Given the description of an element on the screen output the (x, y) to click on. 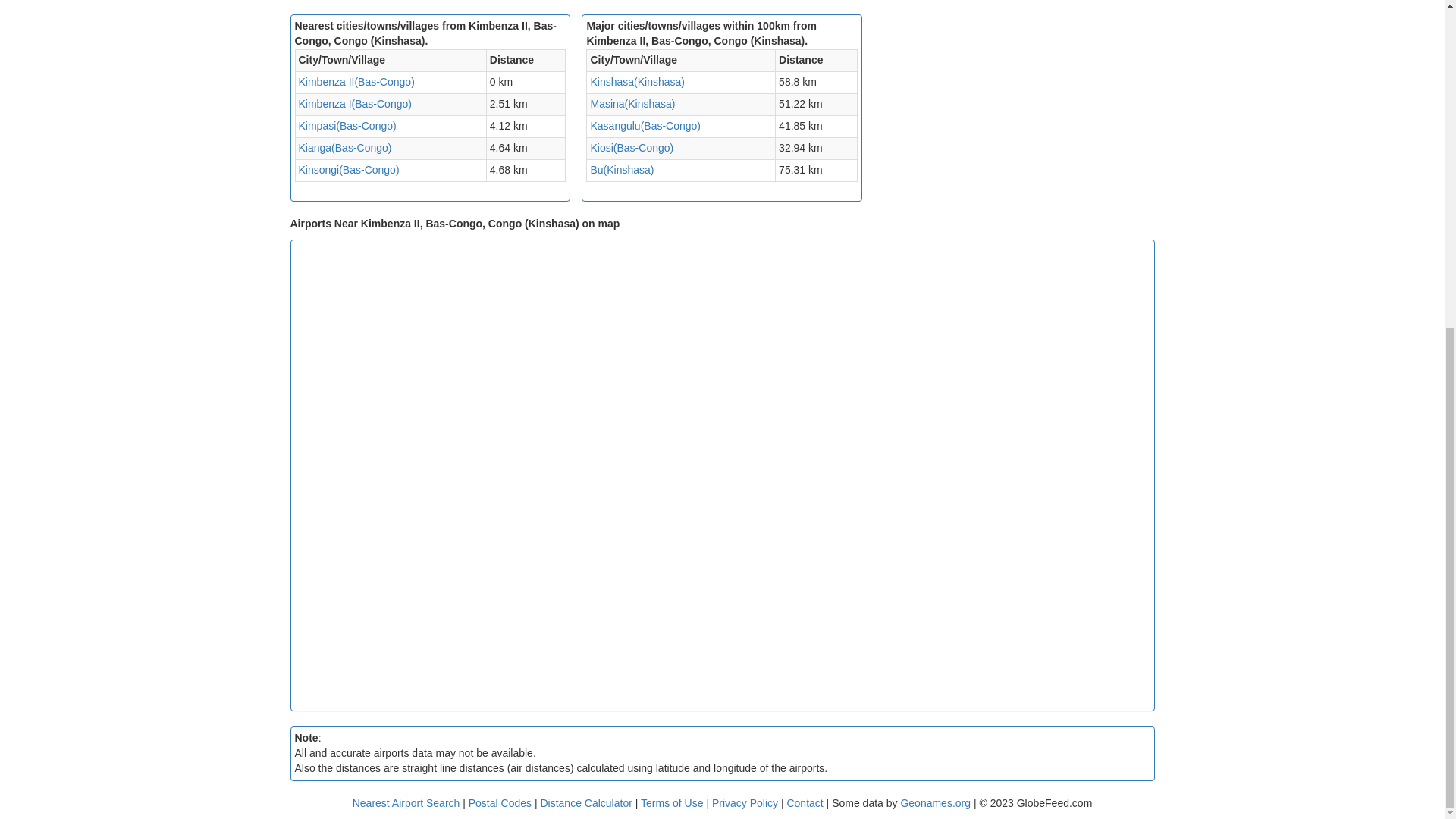
Contact (804, 802)
Distance Calculator (585, 802)
Geonames.org (935, 802)
Privacy Policy (745, 802)
Postal Codes (499, 802)
Nearest Airport Search (406, 802)
Terms of Use (673, 802)
